Given the description of an element on the screen output the (x, y) to click on. 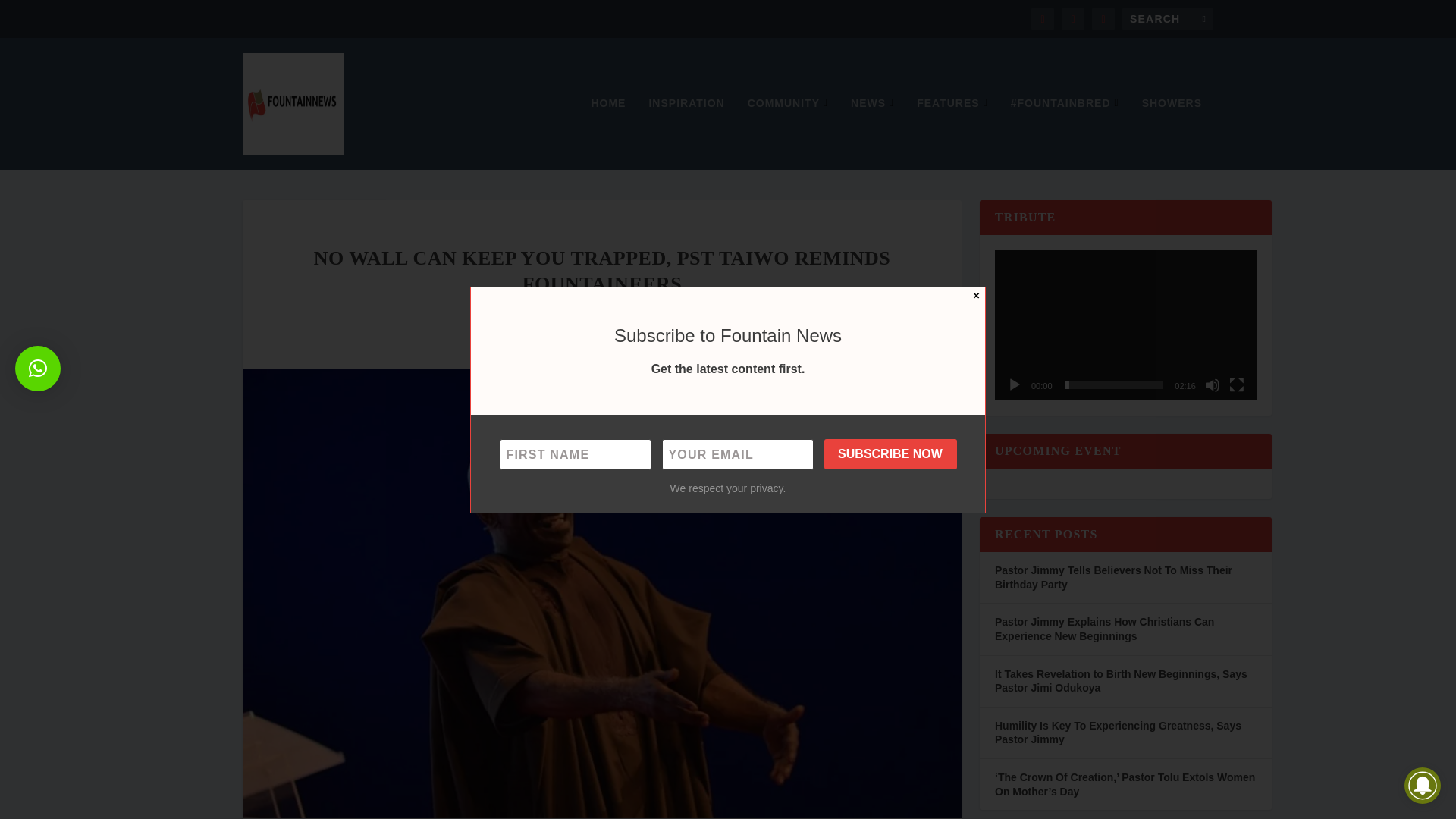
INSPIRATION (685, 133)
FEATURES (952, 133)
Subscribe Now (890, 453)
Rating: 0.00 (709, 313)
COMMUNITY (788, 133)
Posts by Francis (536, 313)
Search for: (1167, 18)
